Given the description of an element on the screen output the (x, y) to click on. 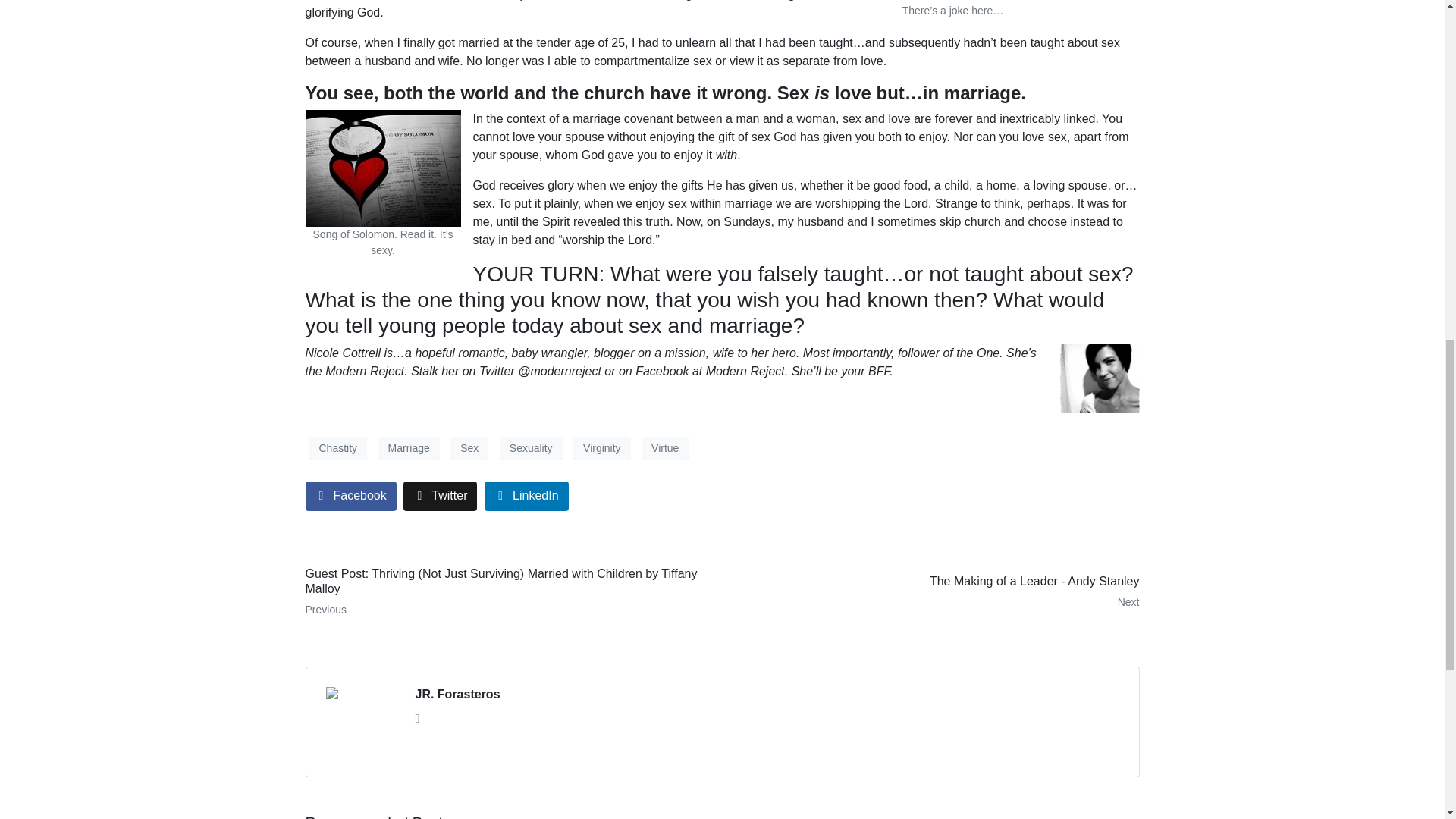
The Making of a Leader - Andy Stanley (936, 591)
Song of Solomon (382, 167)
bio-pic (1099, 377)
